Given the description of an element on the screen output the (x, y) to click on. 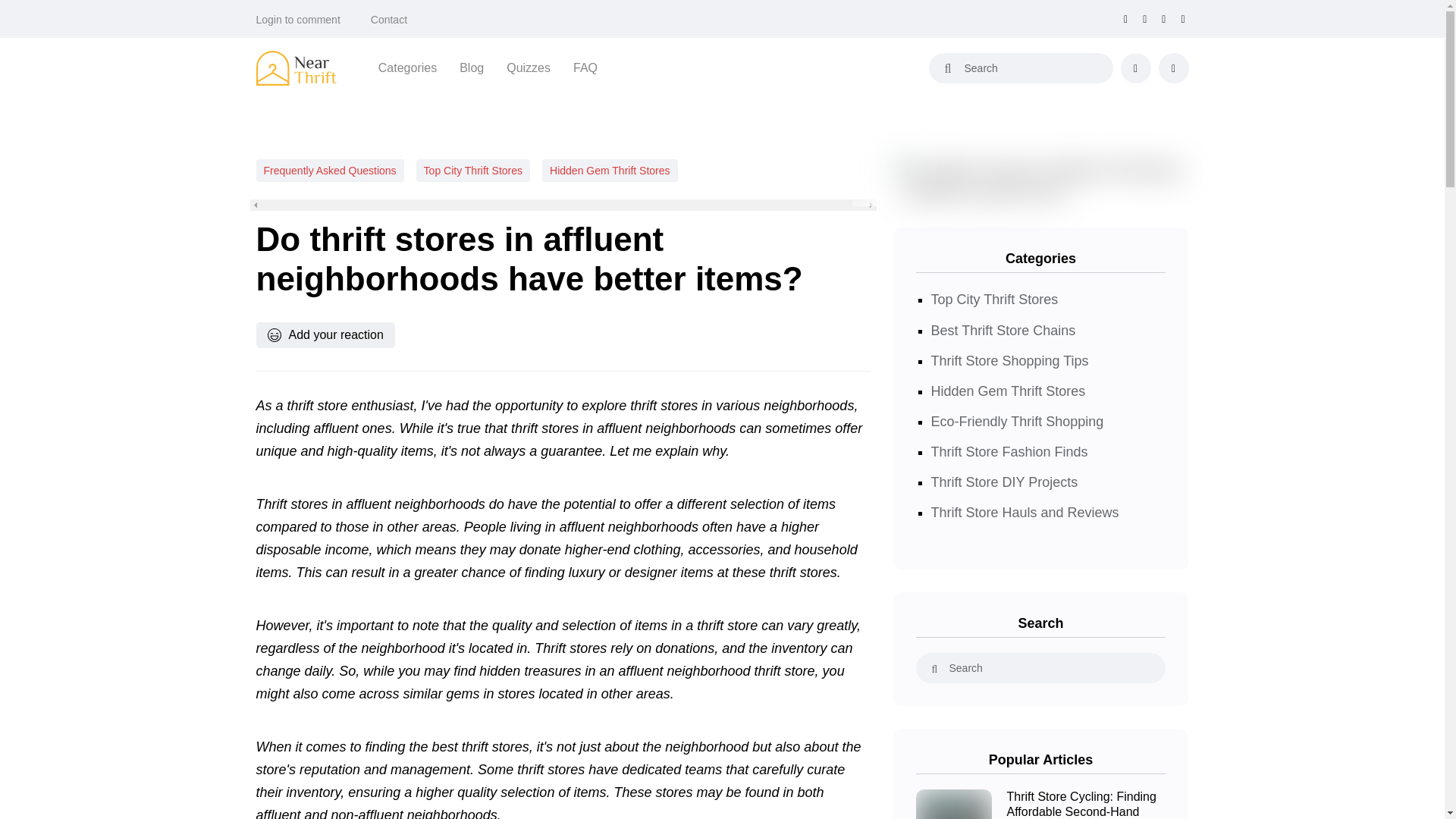
Contact (389, 19)
Login to comment (298, 19)
Categories (407, 67)
